Given the description of an element on the screen output the (x, y) to click on. 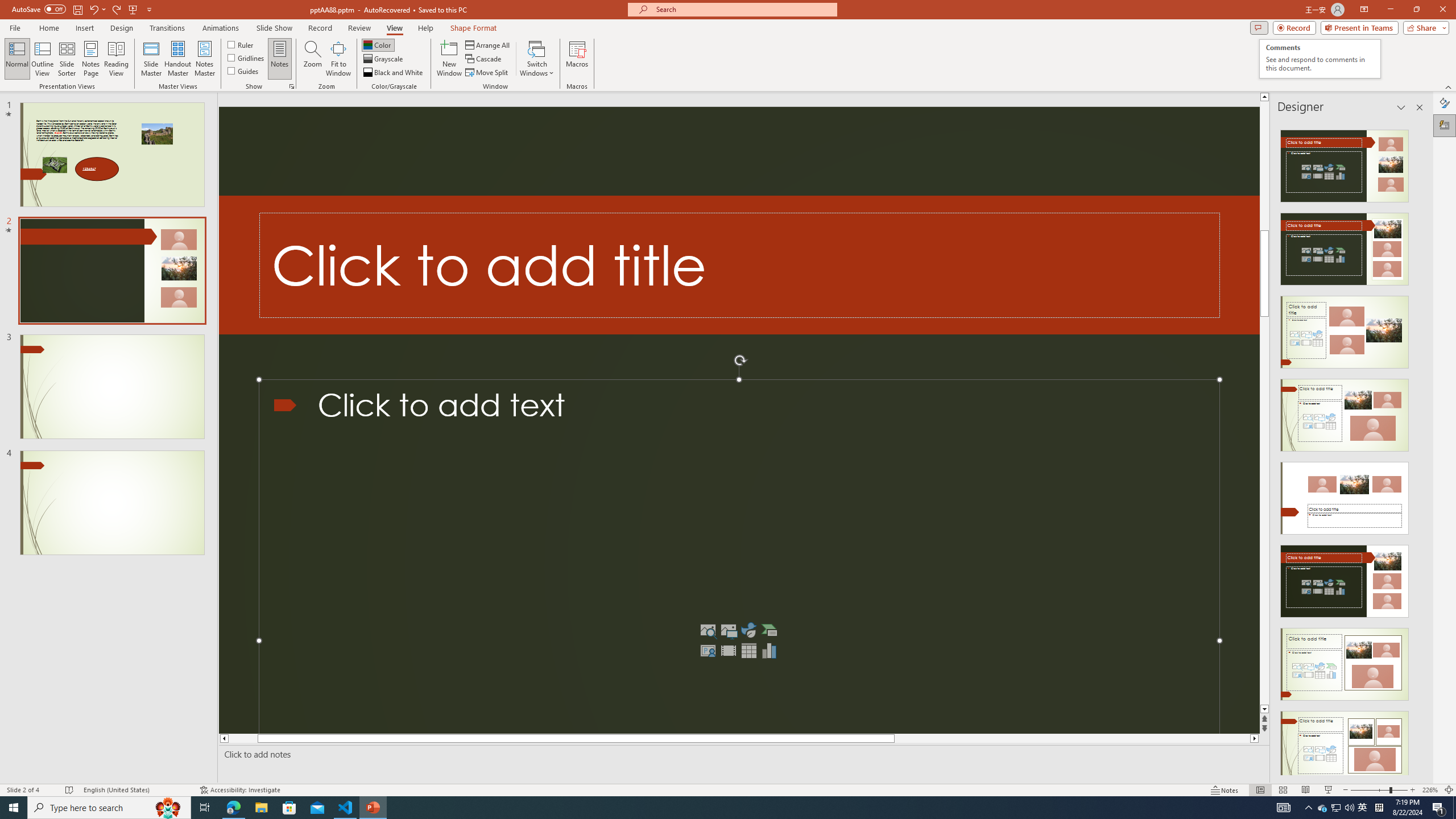
Macros (1319, 58)
Arrange All (576, 58)
Zoom... (488, 44)
